Given the description of an element on the screen output the (x, y) to click on. 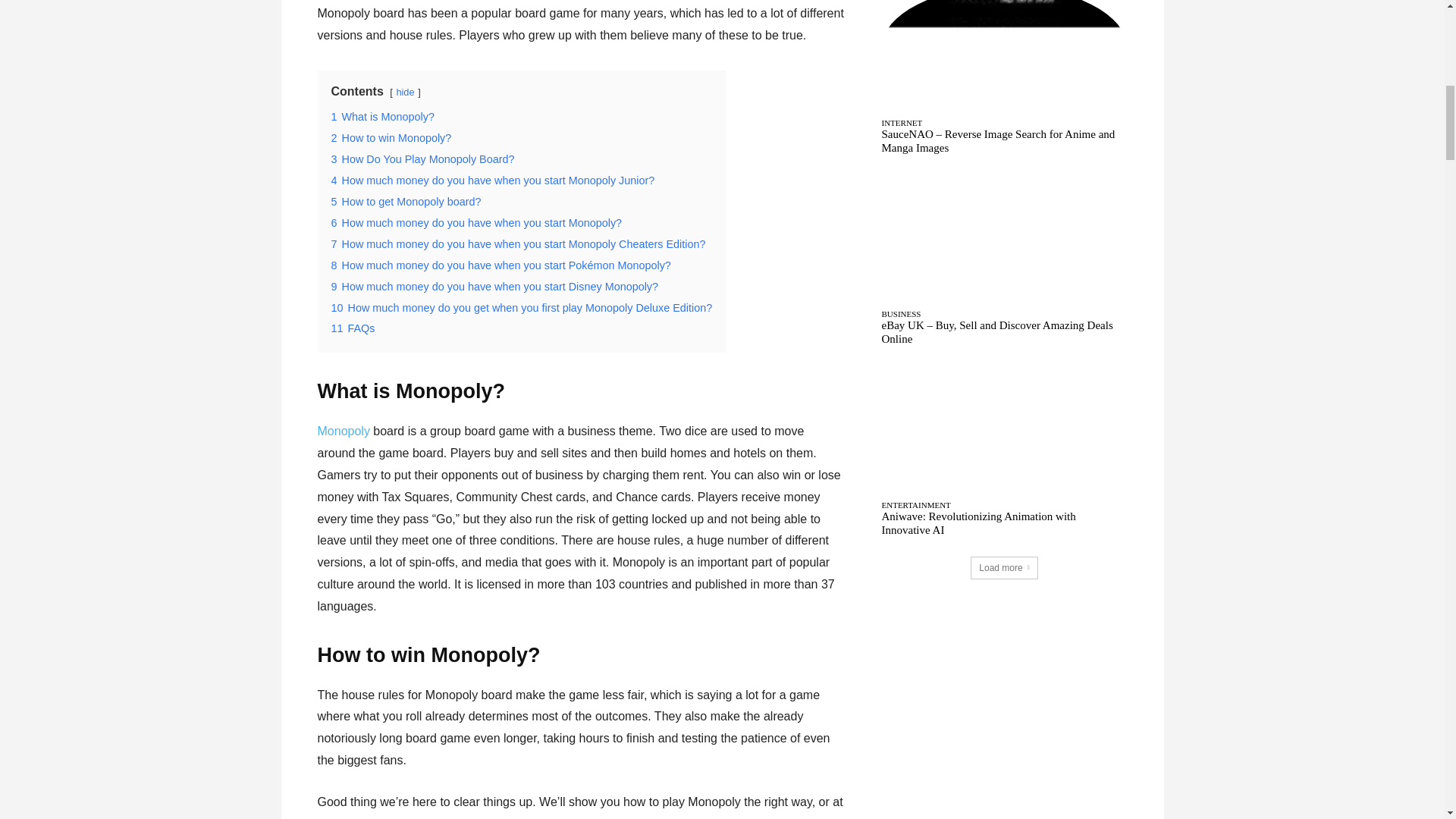
2 How to win Monopoly? (390, 137)
6 How much money do you have when you start Monopoly? (475, 223)
4 How much money do you have when you start Monopoly Junior? (491, 180)
3 How Do You Play Monopoly Board? (421, 159)
hide (404, 91)
1 What is Monopoly? (381, 116)
5 How to get Monopoly board? (405, 201)
